Given the description of an element on the screen output the (x, y) to click on. 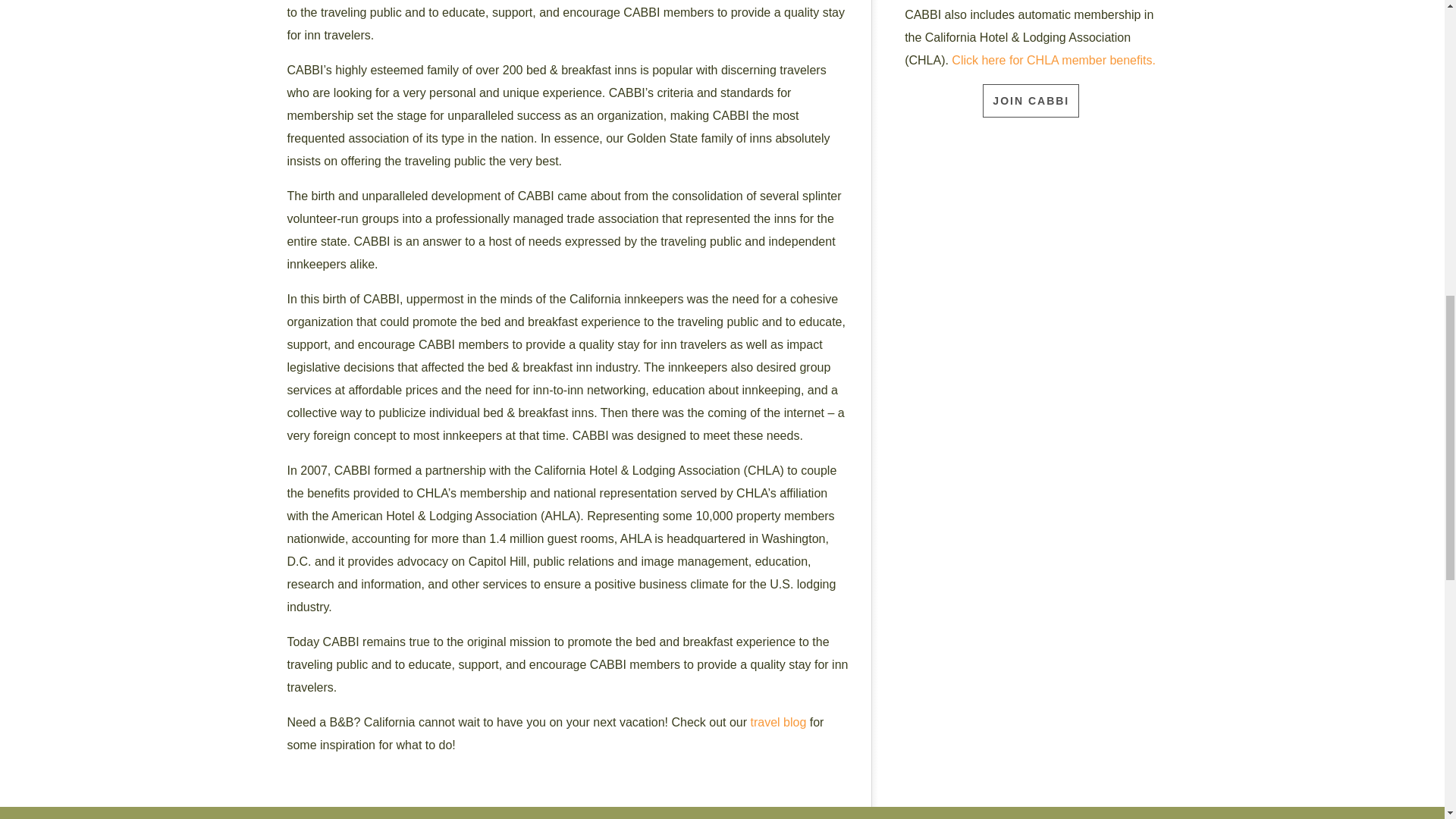
JOIN CABBI (1030, 100)
travel blog (778, 721)
Click here for CHLA member benefits. (1054, 60)
